Given the description of an element on the screen output the (x, y) to click on. 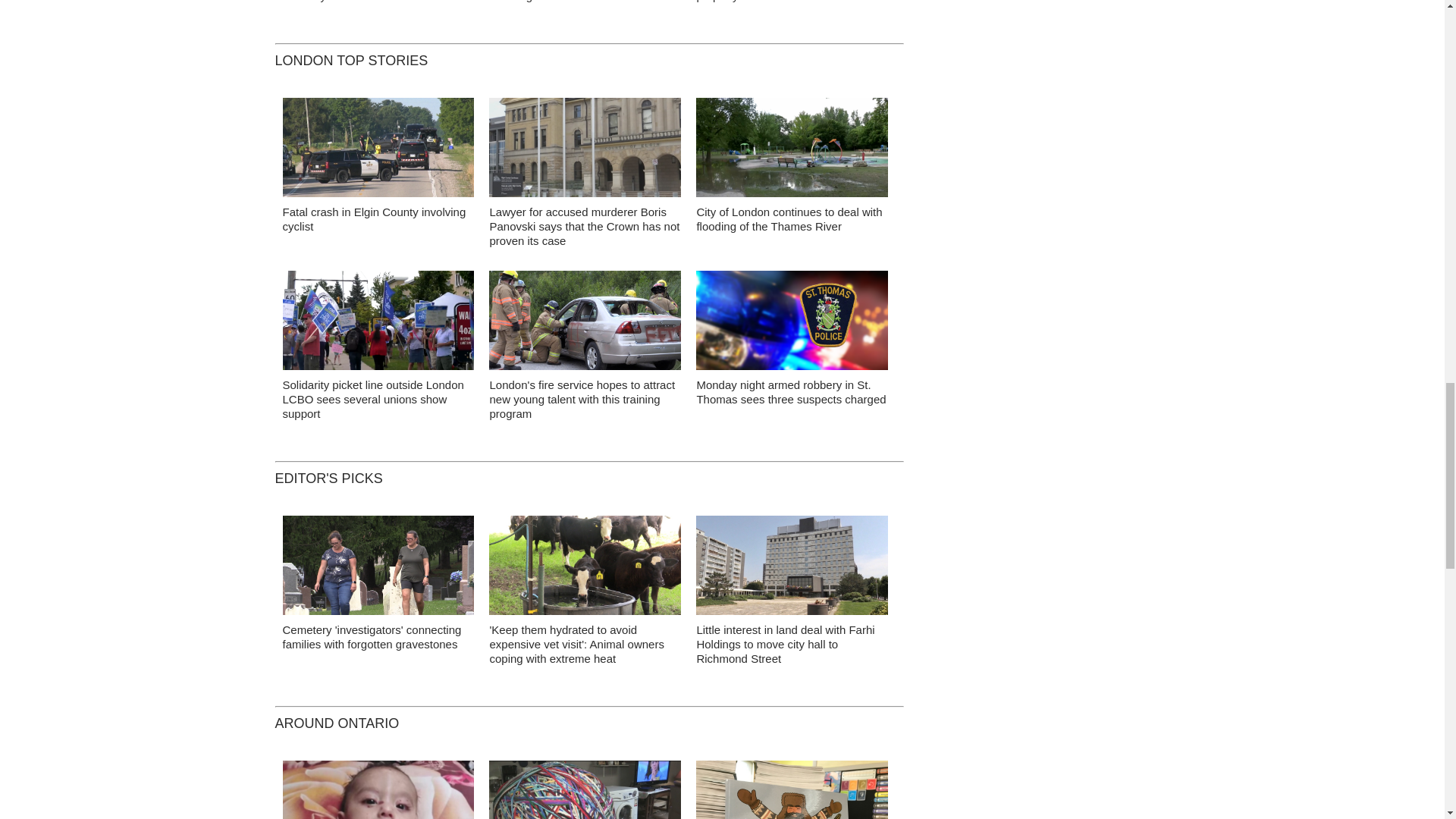
Elgin County courthouse (585, 151)
Pizza Hut London Team of the Week: U12 Boys Soccer (375, 1)
London considers vacant residential property tax (786, 1)
Fatal crash in Elgin County involving cyclist (373, 218)
SIU investigating fatal London police shooting (580, 1)
dutton-dunwich-july 2024 (378, 151)
